Given the description of an element on the screen output the (x, y) to click on. 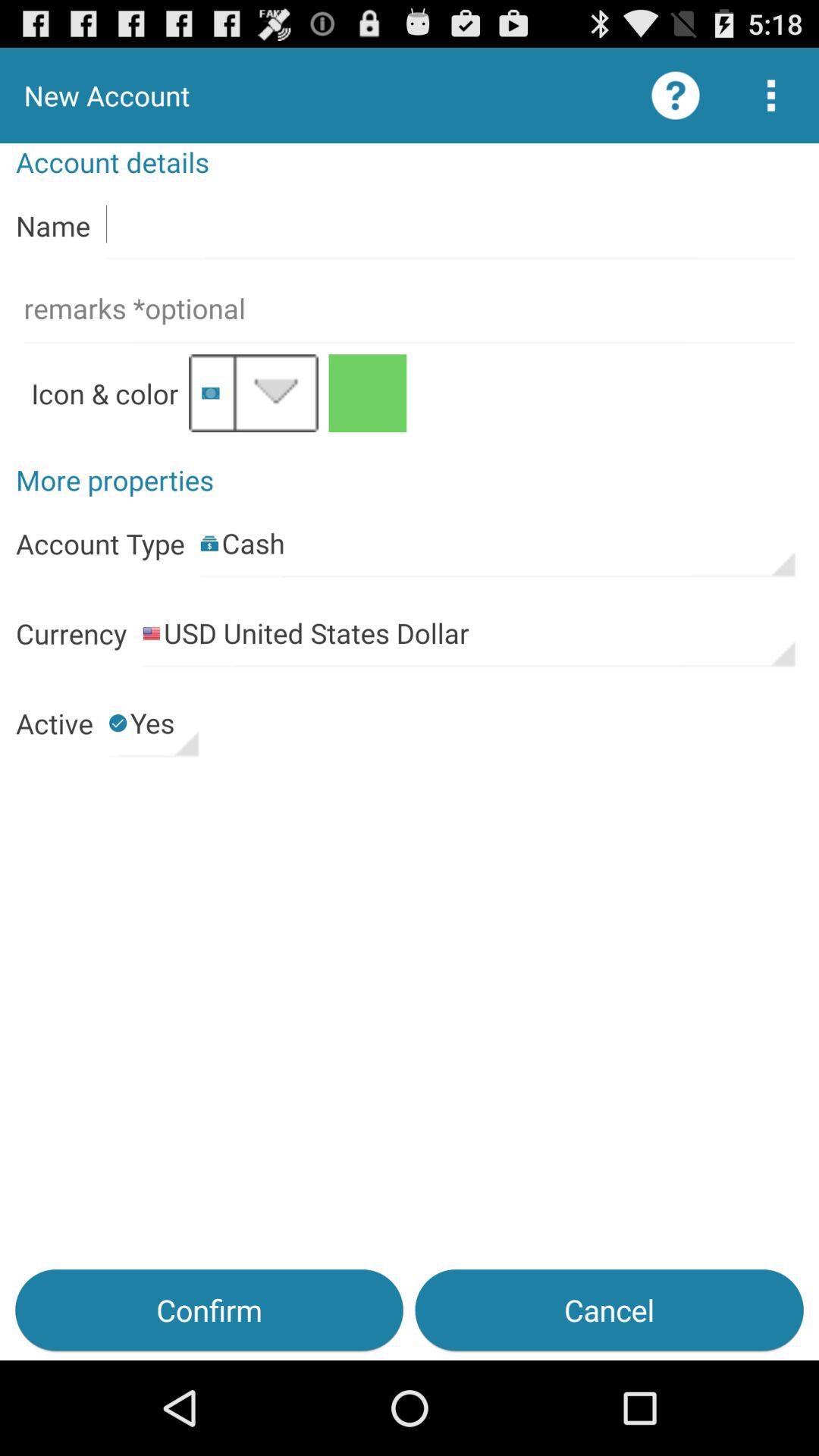
change icon (253, 393)
